Given the description of an element on the screen output the (x, y) to click on. 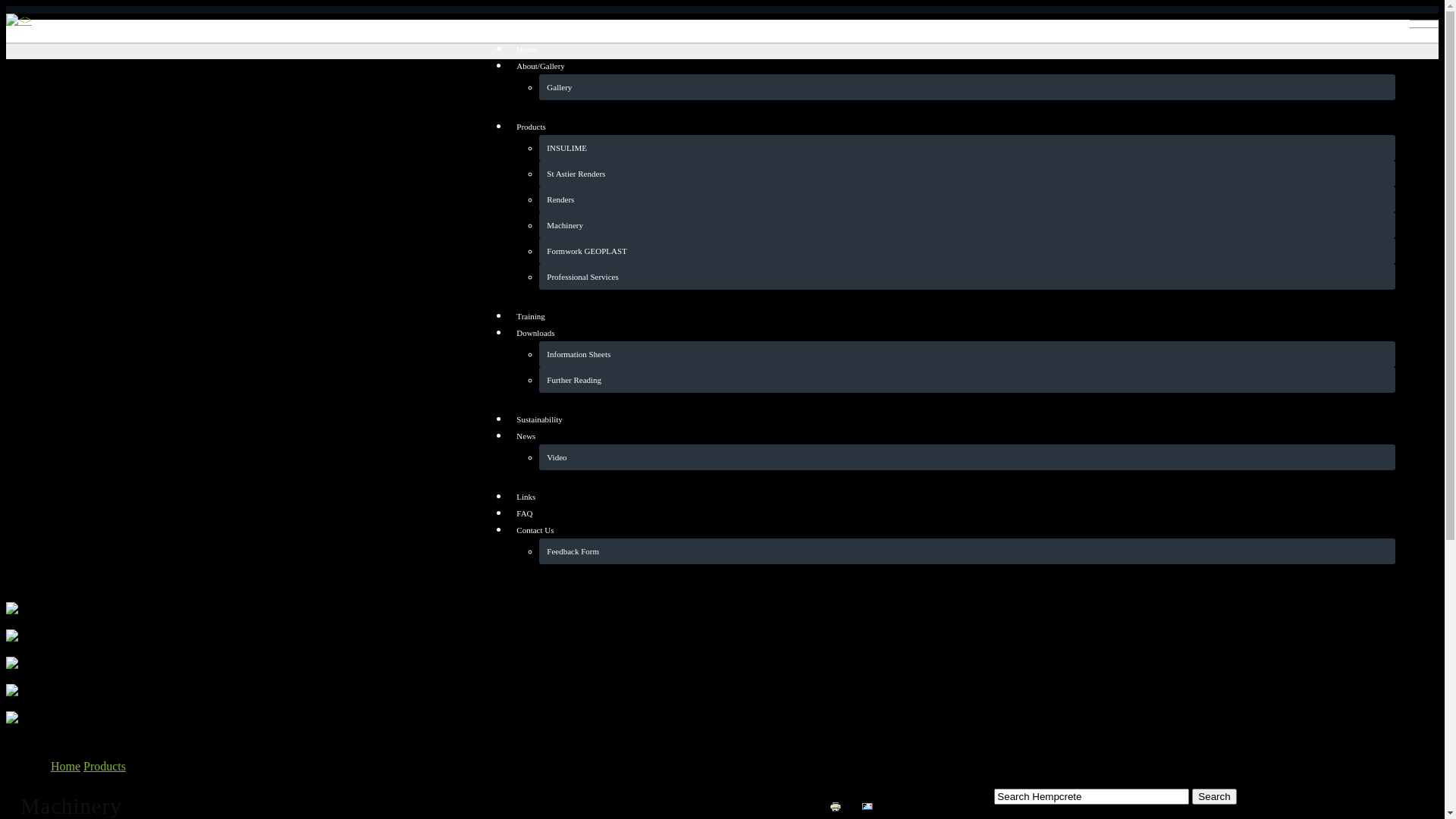
Email Element type: text (875, 806)
Further Reading Element type: text (967, 379)
Formwork GEOPLAST Element type: text (967, 250)
Feedback Form Element type: text (967, 551)
INSULIME Element type: text (967, 147)
News Element type: text (951, 435)
About/Gallery Element type: text (951, 65)
Renders Element type: text (967, 199)
Search Element type: text (1214, 796)
Information Sheets Element type: text (967, 354)
Downloads Element type: text (951, 332)
Home Element type: text (65, 765)
Contact Us Element type: text (951, 529)
Products Element type: text (951, 126)
Home Element type: text (951, 48)
St Astier Renders Element type: text (967, 173)
Machinery Element type: text (967, 225)
Video Element type: text (967, 457)
Gallery Element type: text (967, 87)
Print Element type: text (841, 806)
Professional Services Element type: text (967, 276)
Sustainability Element type: text (951, 419)
FAQ Element type: text (951, 513)
Links Element type: text (951, 496)
Products Element type: text (104, 765)
Training Element type: text (951, 315)
